Given the description of an element on the screen output the (x, y) to click on. 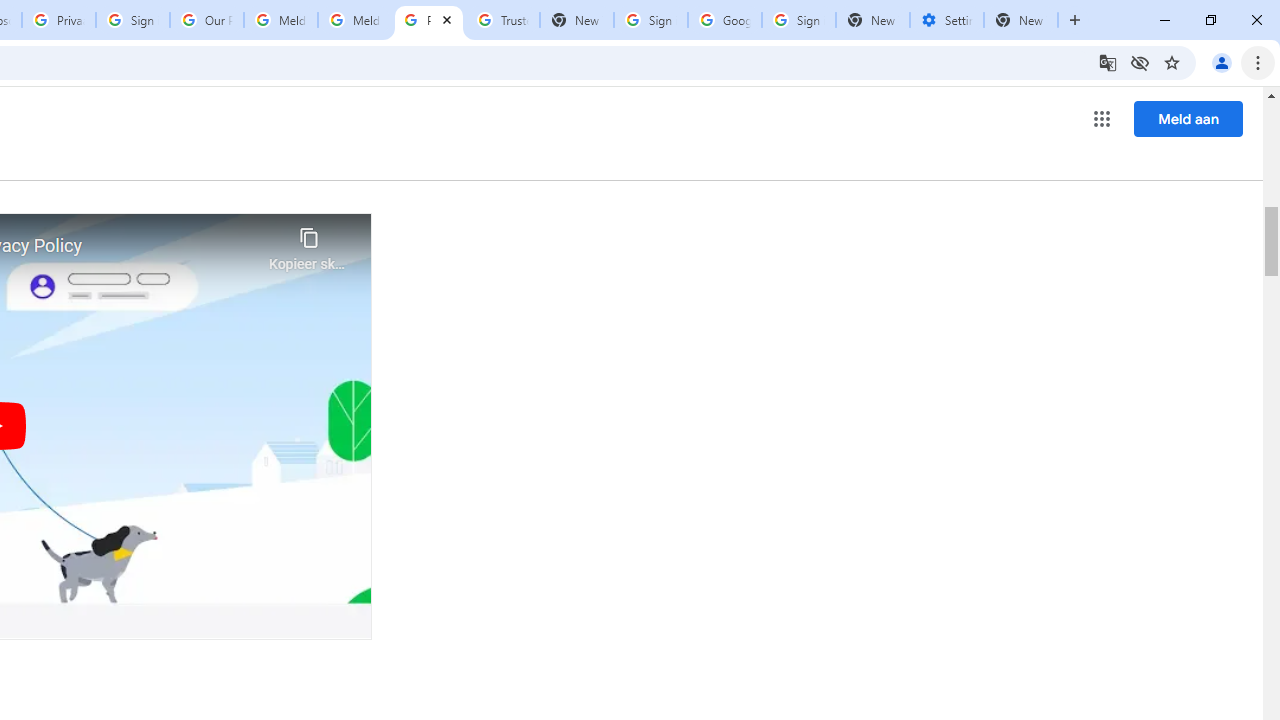
New Tab (872, 20)
Kopieer skakel (308, 244)
Meld aan (1188, 118)
Sign in - Google Accounts (651, 20)
Translate this page (1107, 62)
Third-party cookies blocked (1139, 62)
Sign in - Google Accounts (798, 20)
